Given the description of an element on the screen output the (x, y) to click on. 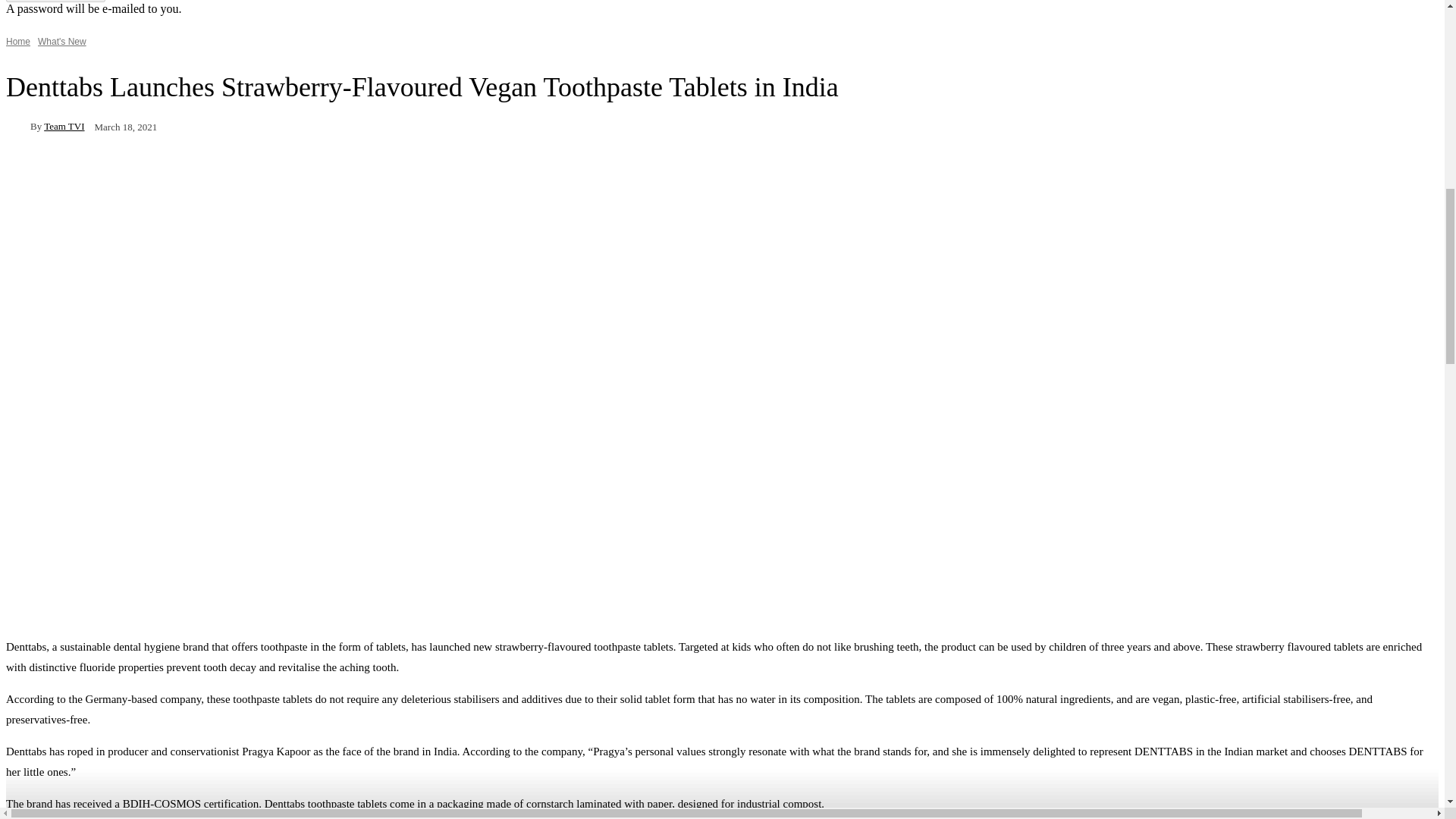
Team TVI (17, 125)
Send My Password (54, 1)
View all posts in What's New (61, 41)
